Given the description of an element on the screen output the (x, y) to click on. 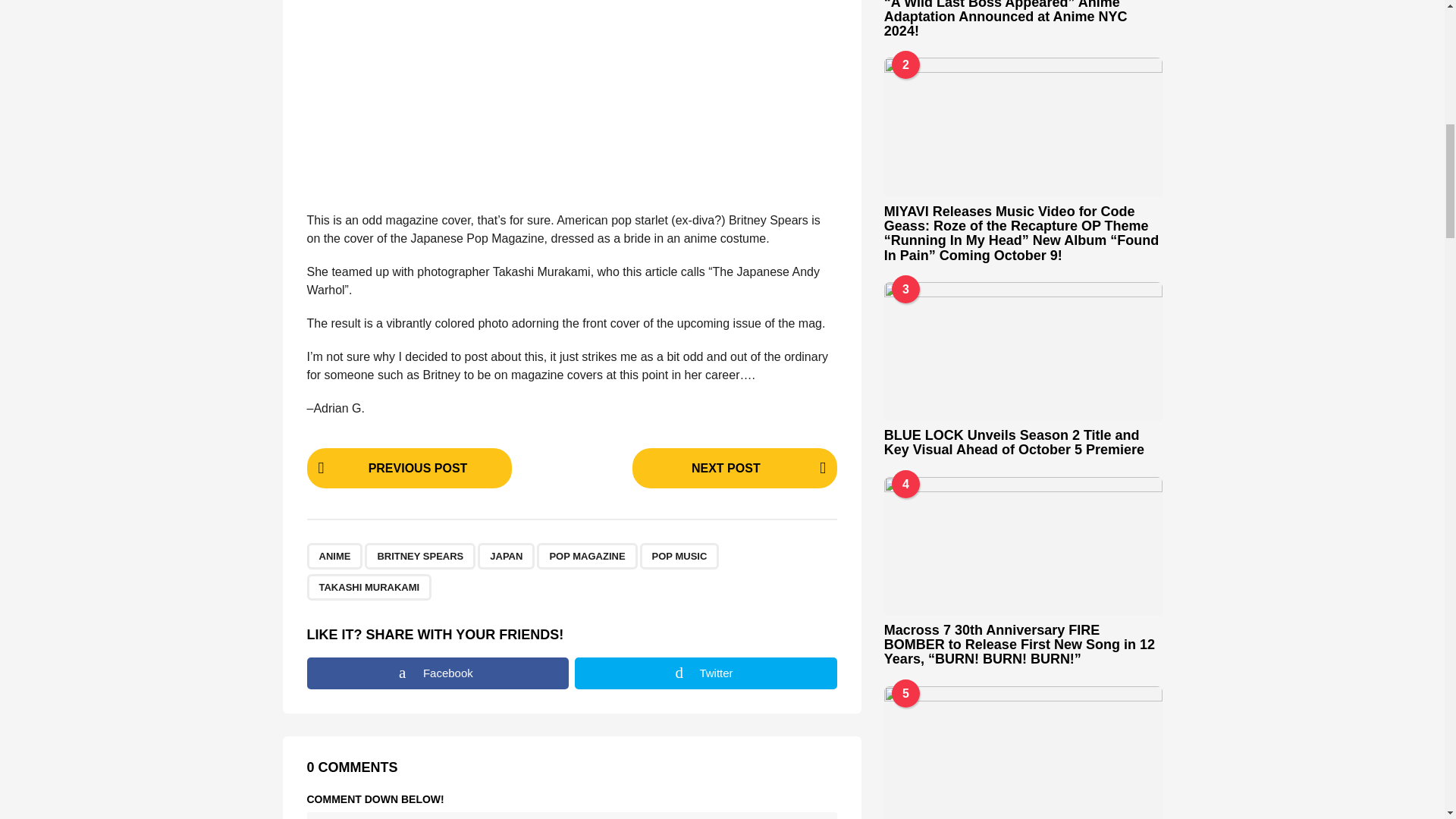
Share on Twitter (706, 673)
britney anime cover (571, 95)
Share on Facebook (437, 673)
